Given the description of an element on the screen output the (x, y) to click on. 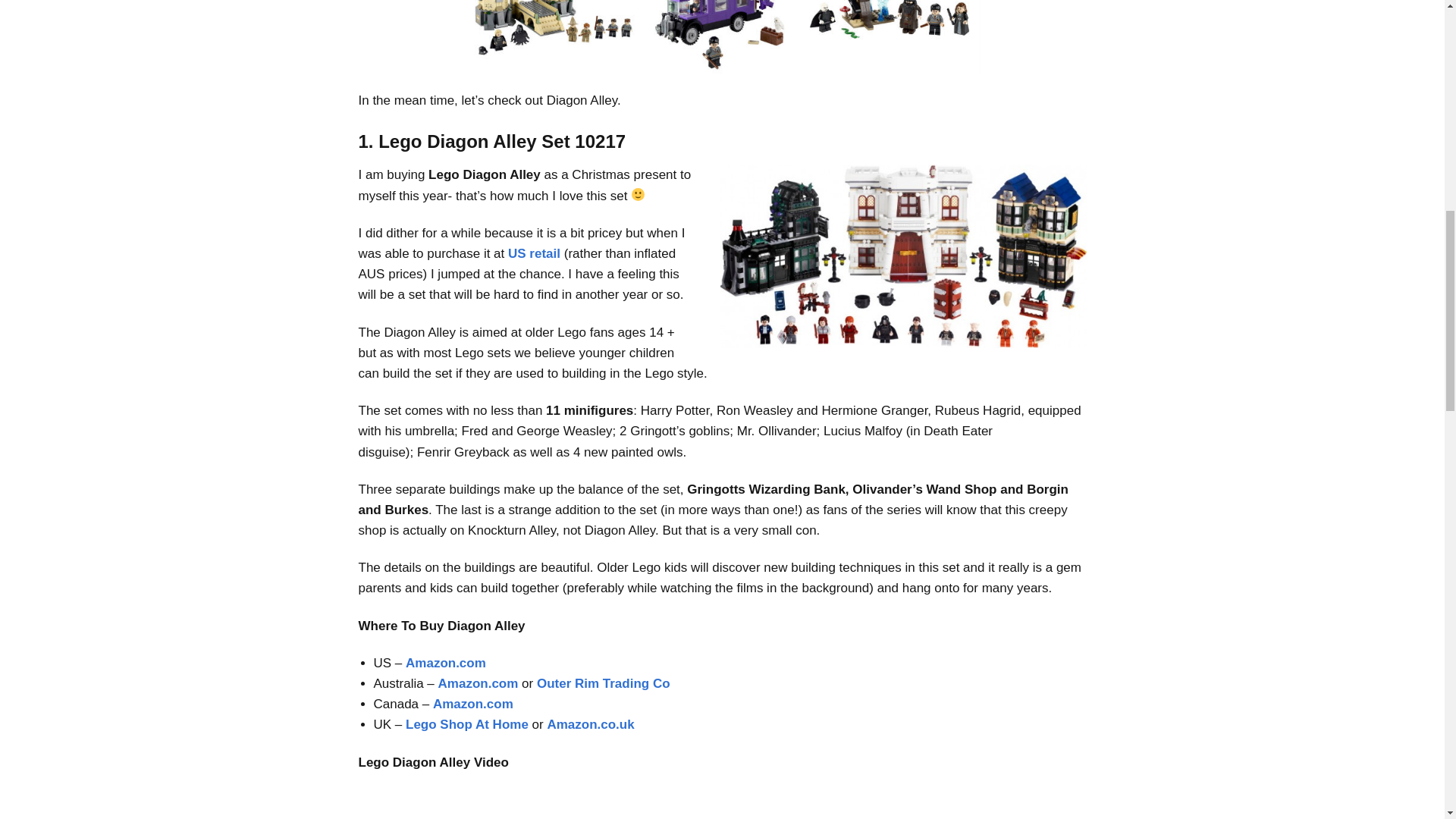
Amazon.co.uk (590, 724)
Amazon.com (472, 703)
Harry Potter Lego Sets 2011 (721, 36)
Outer Rim Trading Co (603, 683)
Lego Shop At Home (467, 724)
Amazon.com (478, 683)
US retail (536, 253)
Lego Diagon Alley 10217 (903, 256)
Amazon.com (446, 663)
